Given the description of an element on the screen output the (x, y) to click on. 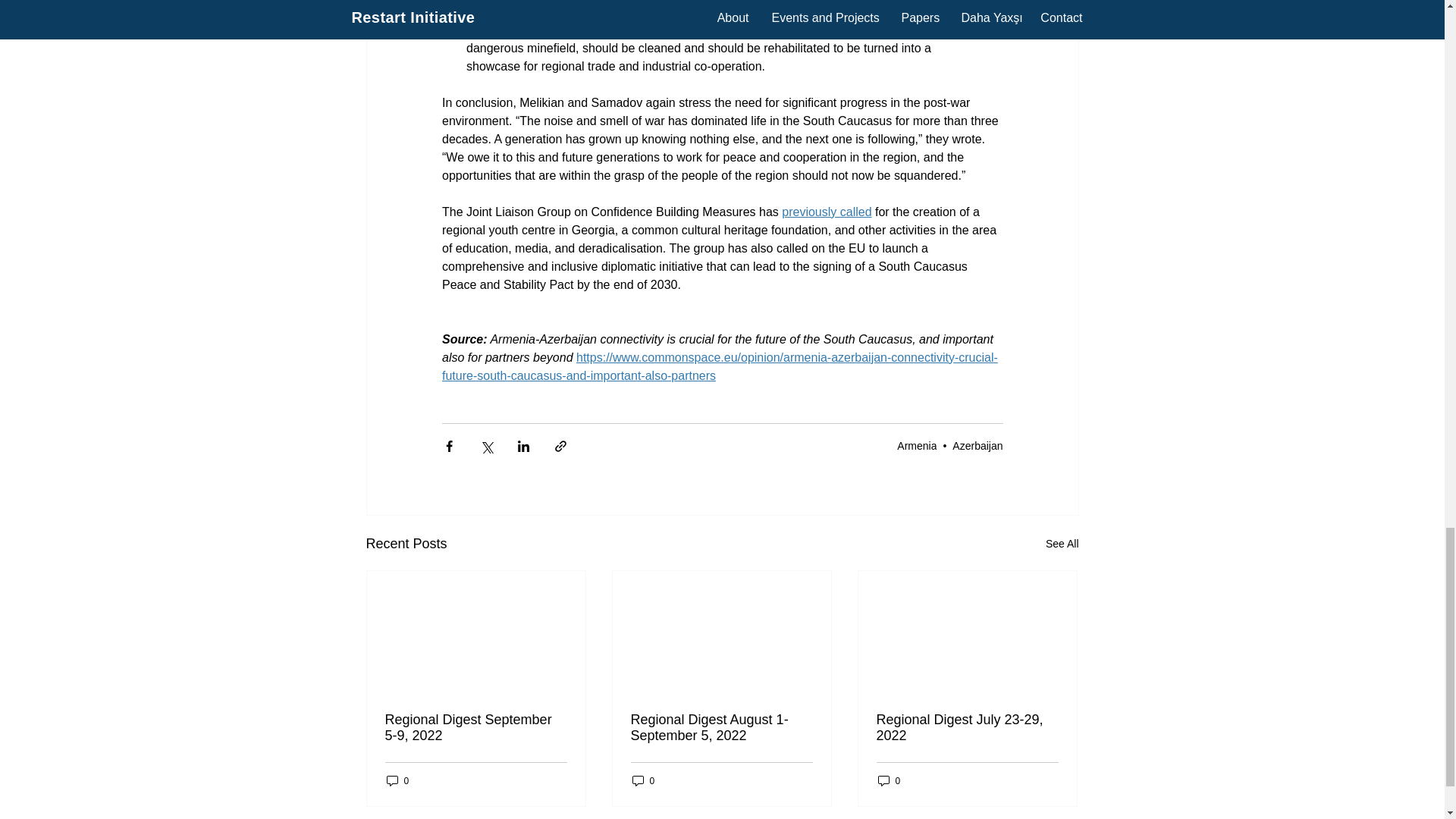
Armenia (916, 445)
0 (397, 780)
previously called (825, 211)
See All (1061, 544)
Azerbaijan (977, 445)
Regional Digest September 5-9, 2022 (476, 727)
0 (643, 780)
Regional Digest August 1-September 5, 2022 (721, 727)
Regional Digest July 23-29, 2022 (967, 727)
